Given the description of an element on the screen output the (x, y) to click on. 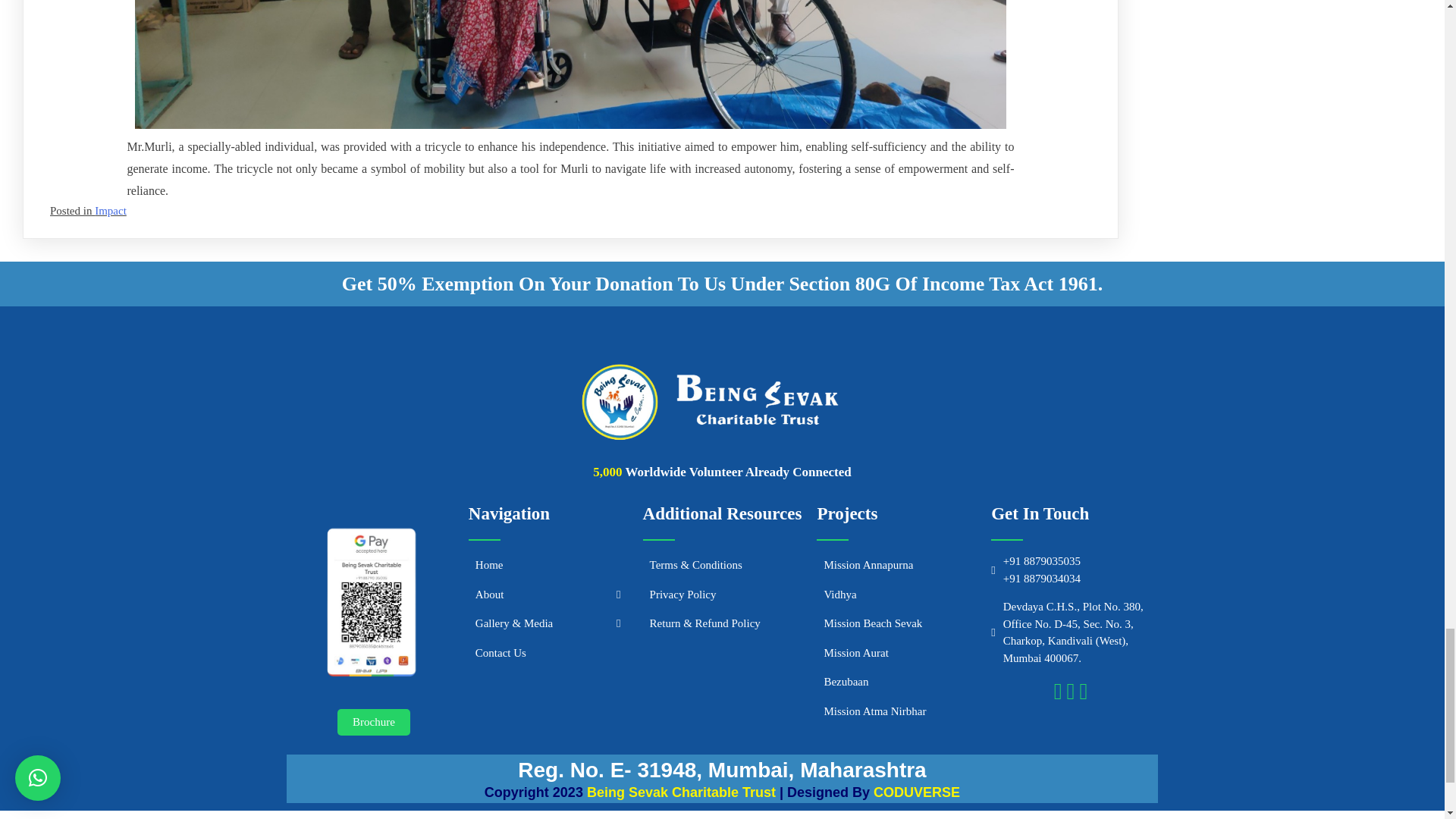
WhatsApp-Image-2023-11-20-at-16.58.46-1 (570, 64)
